Given the description of an element on the screen output the (x, y) to click on. 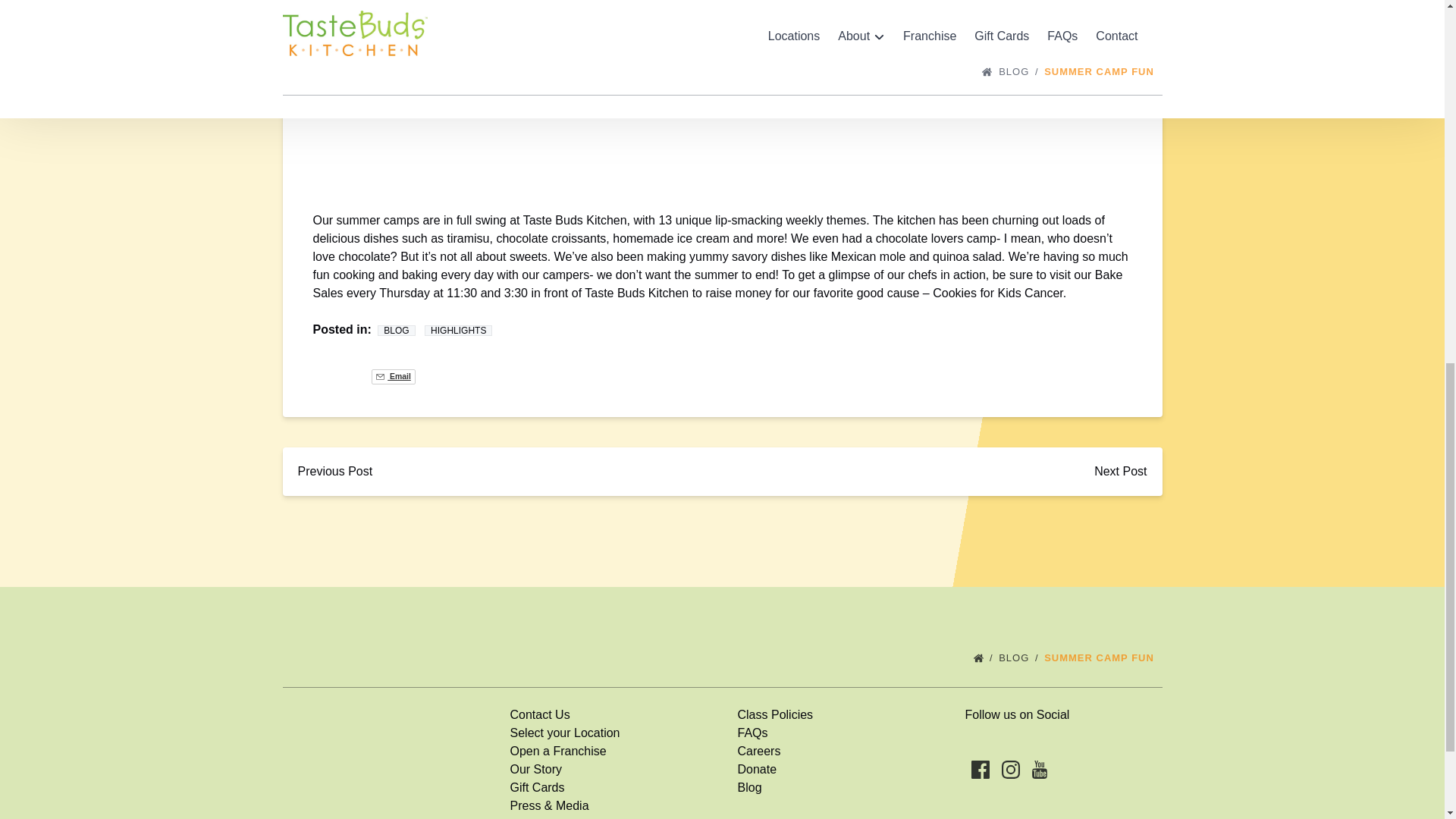
HIGHLIGHTS (458, 330)
Previous Post (334, 471)
SUMMER CAMP FUN (1102, 657)
Contact Us (539, 714)
Blog (395, 330)
Email (392, 376)
Next Post (1119, 471)
BLOG (1019, 657)
Highlights (458, 330)
FareHarbor (1342, 140)
